Given the description of an element on the screen output the (x, y) to click on. 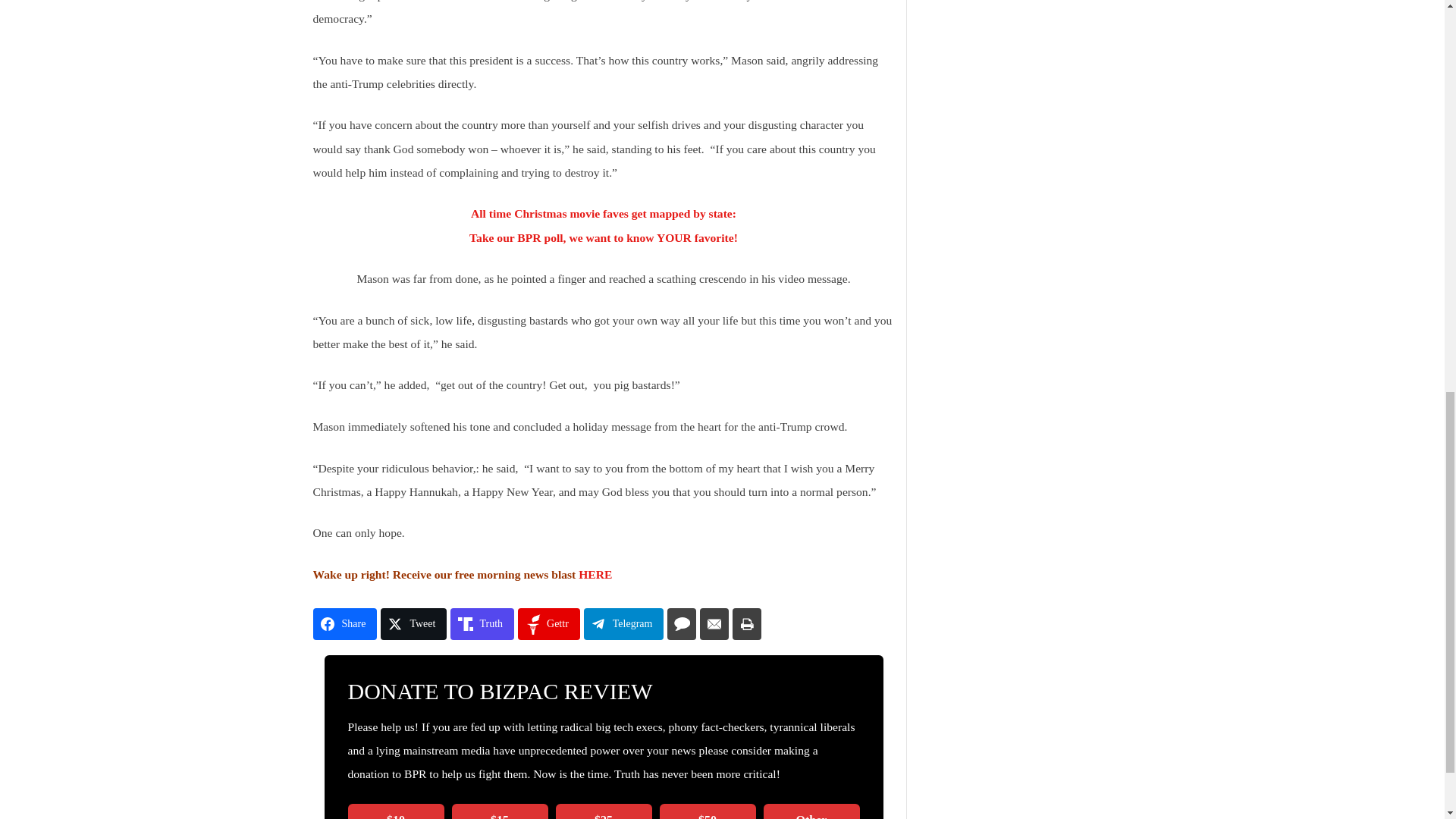
Gettr (548, 623)
Share on Telegram (623, 623)
Truth (481, 623)
Share on Share (345, 623)
Tweet (413, 623)
Share on Tweet (413, 623)
HERE (594, 574)
Share on Gettr (548, 623)
Share on Truth (481, 623)
Share (345, 623)
Telegram (623, 623)
